Given the description of an element on the screen output the (x, y) to click on. 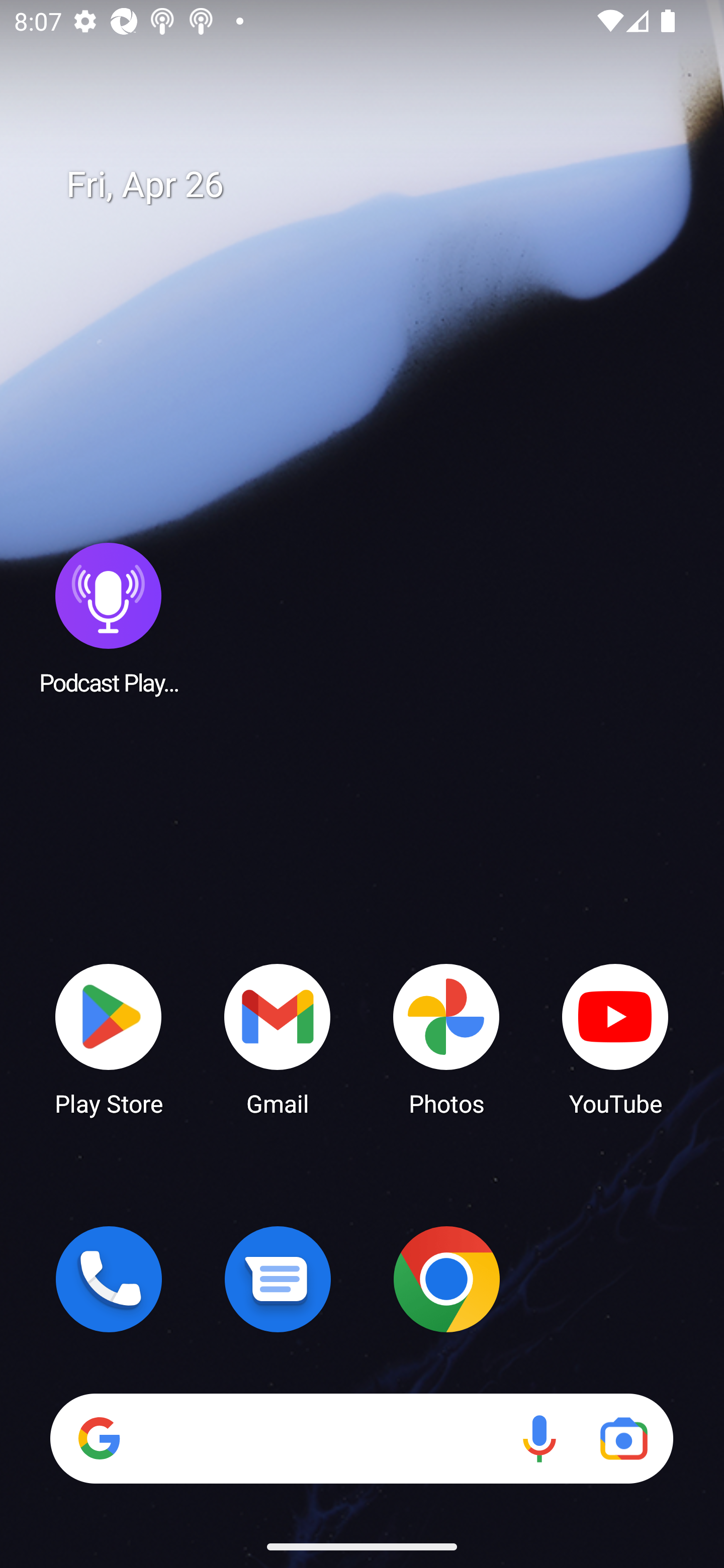
Fri, Apr 26 (375, 184)
Podcast Player (108, 617)
Play Store (108, 1038)
Gmail (277, 1038)
Photos (445, 1038)
YouTube (615, 1038)
Phone (108, 1279)
Messages (277, 1279)
Chrome (446, 1279)
Search Voice search Google Lens (361, 1438)
Voice search (539, 1438)
Google Lens (623, 1438)
